Given the description of an element on the screen output the (x, y) to click on. 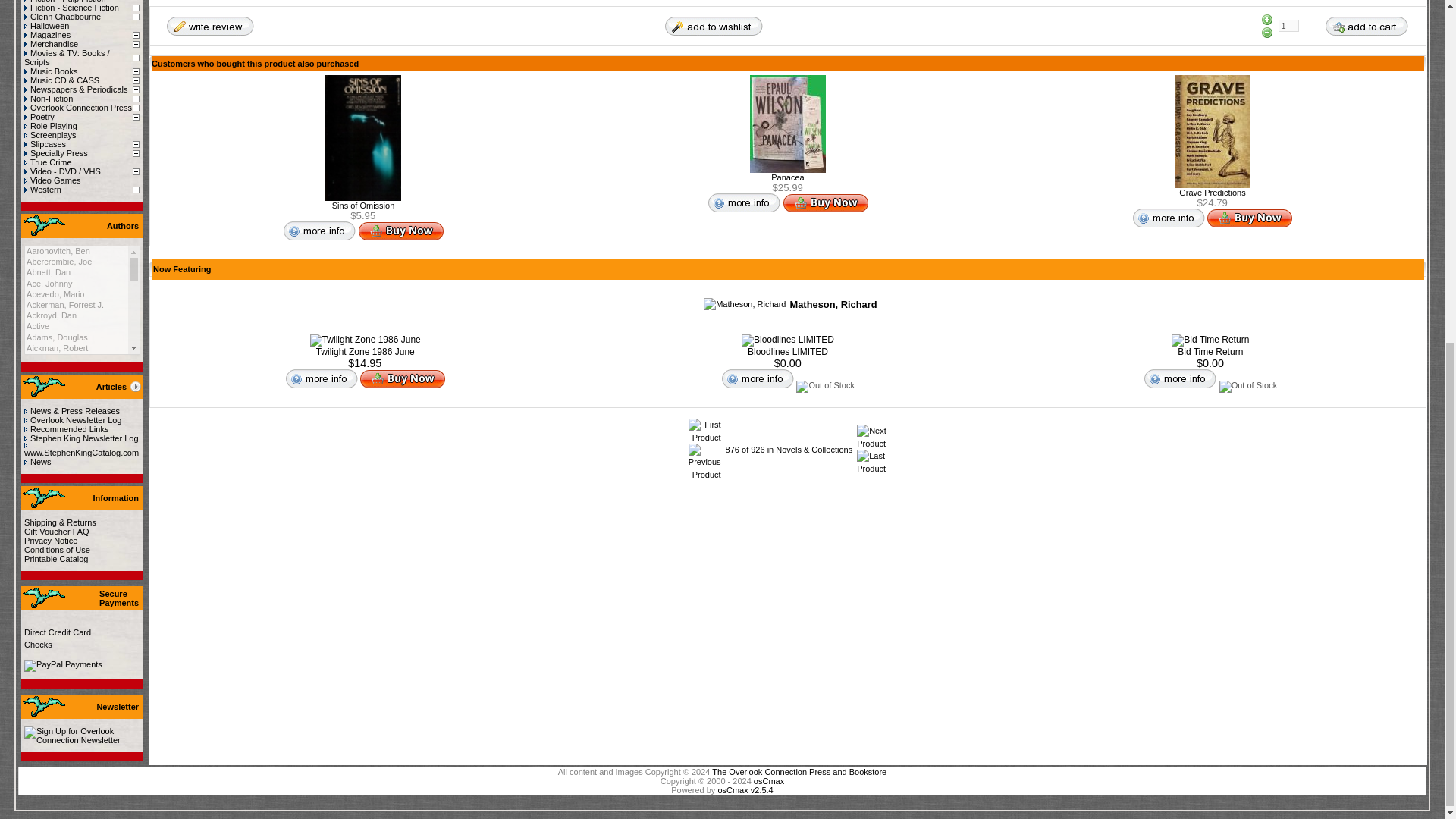
1 (1288, 25)
 More info  (1168, 217)
 more  (135, 386)
 Buy Now  (401, 230)
 Wish List  (712, 25)
 Buy Now  (825, 203)
 Write Review  (209, 25)
 More info  (743, 202)
 More info  (318, 230)
 Add to Cart  (1365, 25)
